Given the description of an element on the screen output the (x, y) to click on. 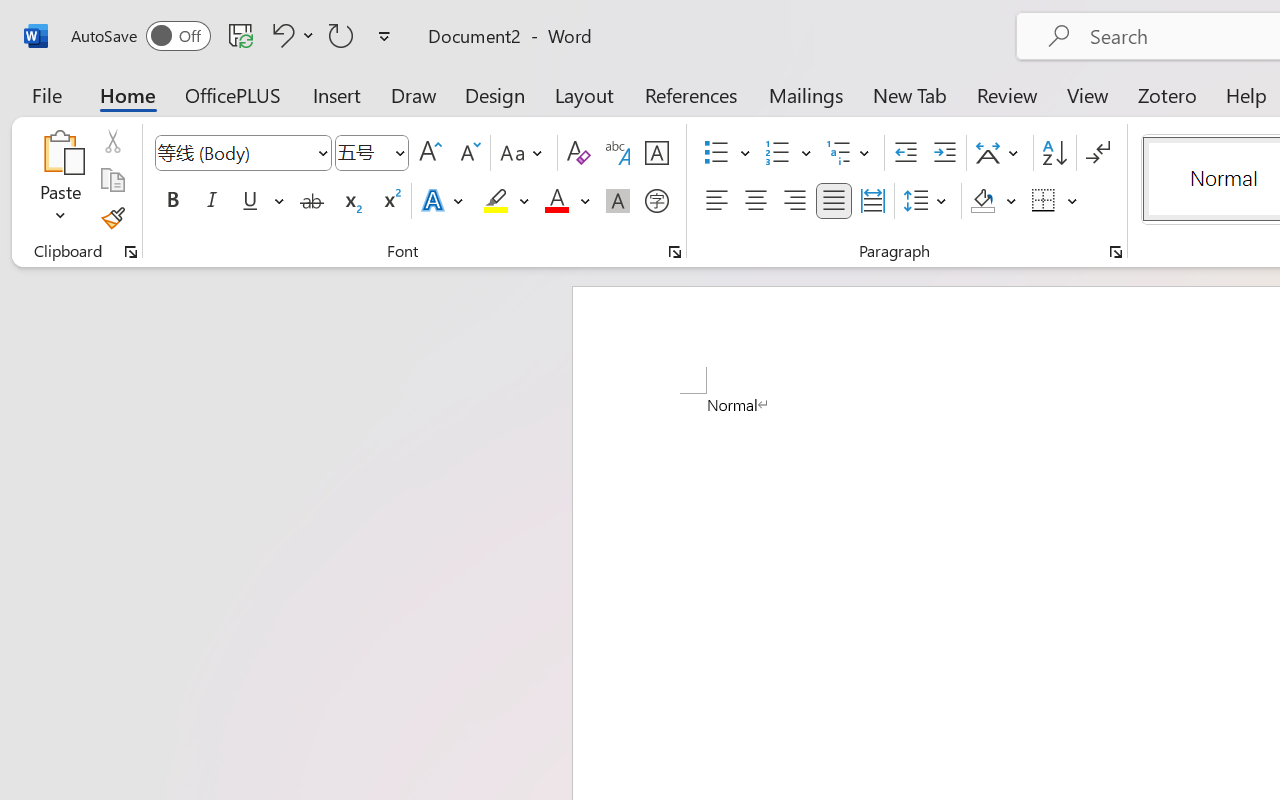
Enclose Characters... (656, 201)
Underline (250, 201)
